Given the description of an element on the screen output the (x, y) to click on. 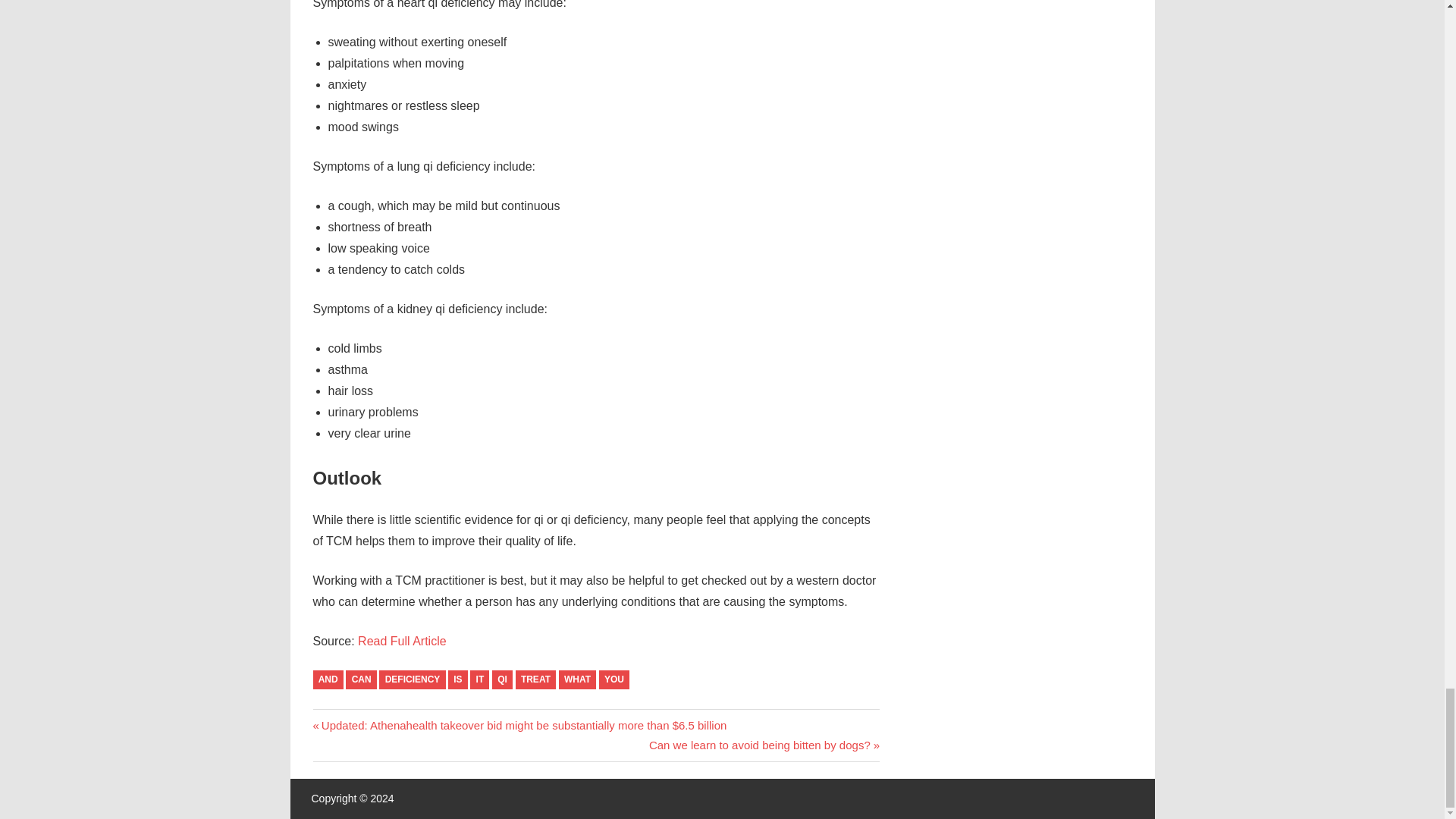
WHAT (577, 679)
CAN (764, 744)
QI (360, 679)
TREAT (502, 679)
AND (535, 679)
Read Full Article (327, 679)
YOU (402, 640)
DEFICIENCY (613, 679)
IS (411, 679)
IT (457, 679)
